Given the description of an element on the screen output the (x, y) to click on. 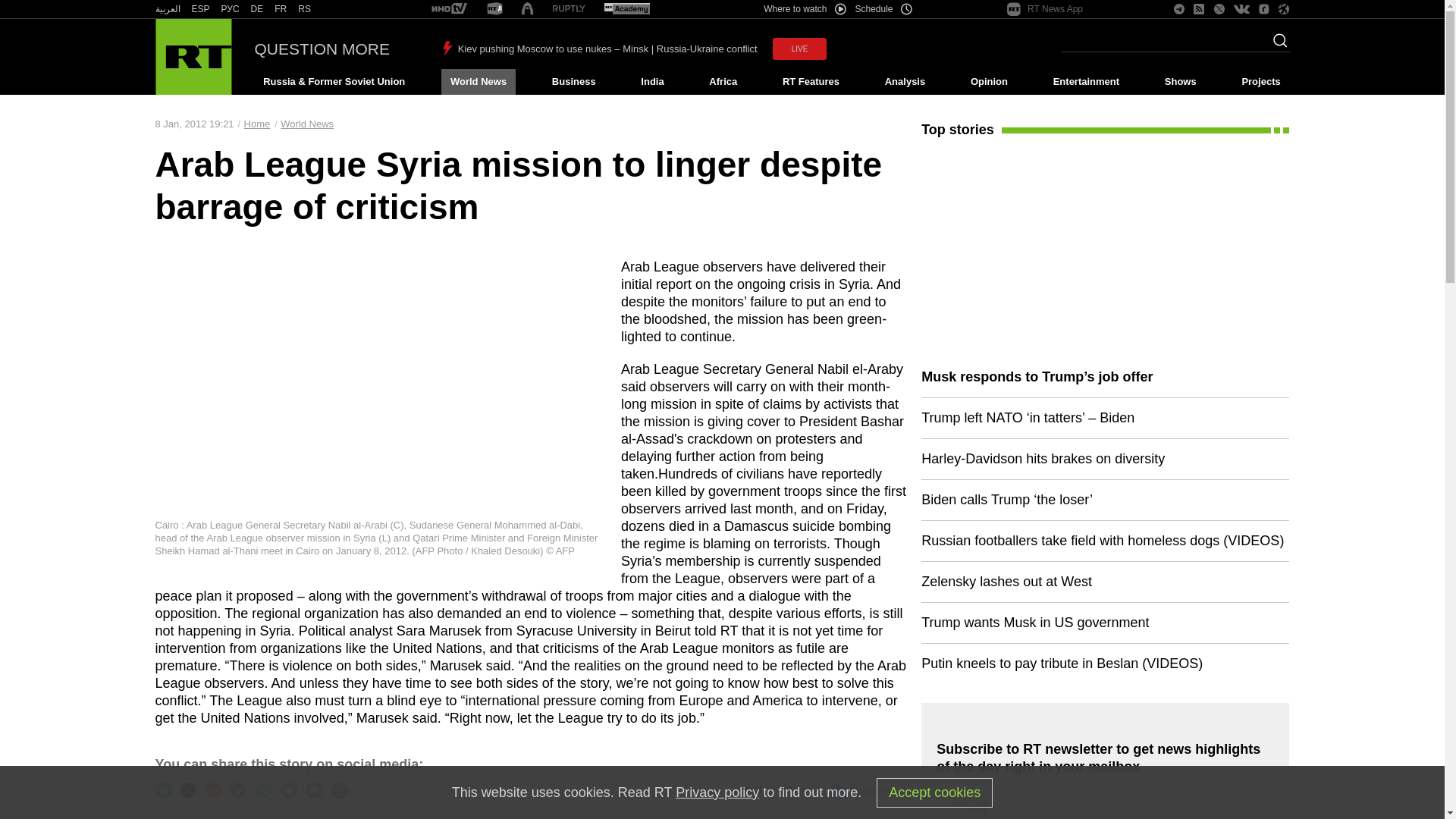
DE (256, 9)
Search (1276, 44)
RS (304, 9)
Analysis (905, 81)
Where to watch (803, 9)
RT  (626, 9)
QUESTION MORE (322, 48)
Shows (1180, 81)
RT  (494, 9)
RT  (256, 9)
